Given the description of an element on the screen output the (x, y) to click on. 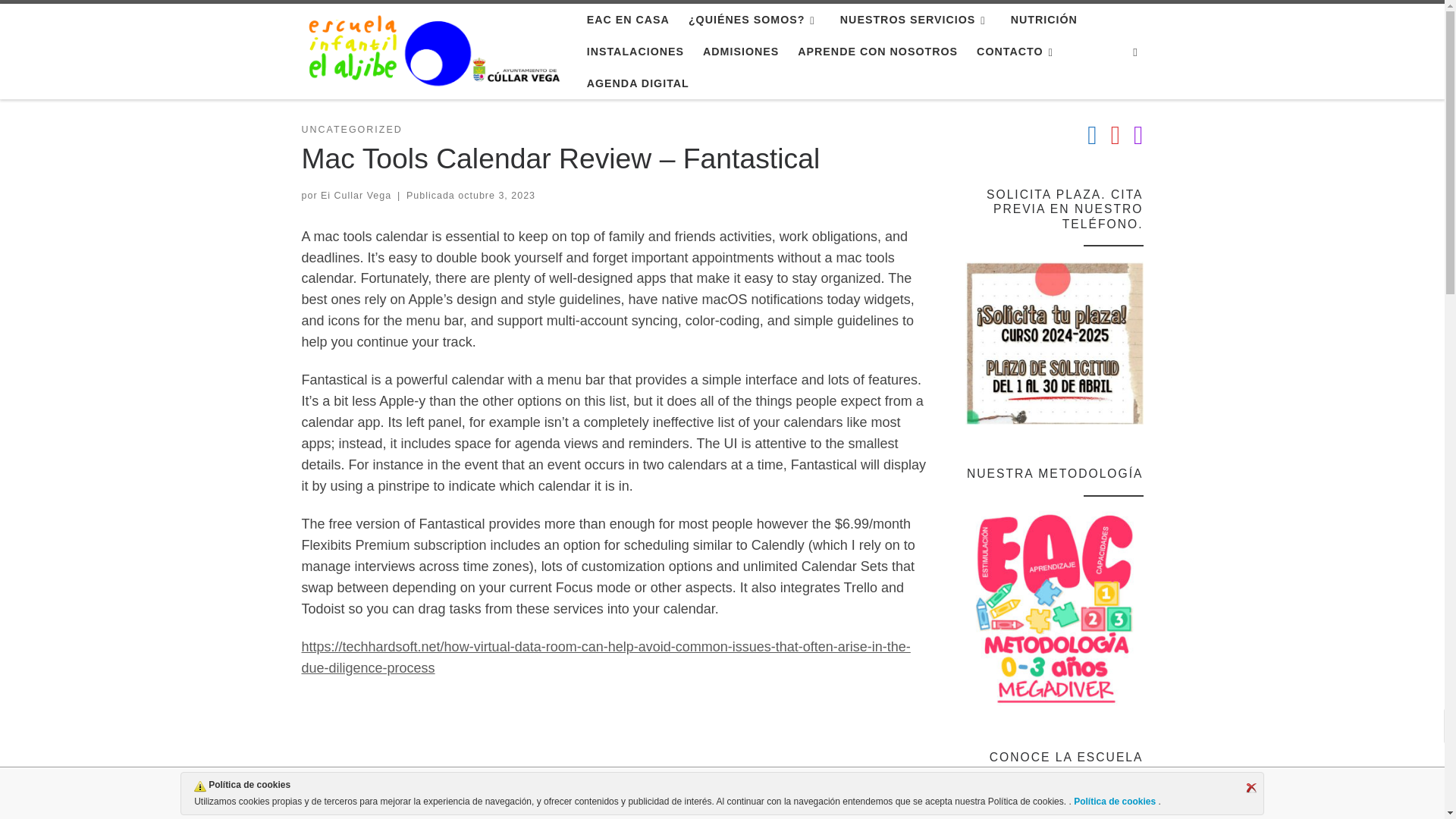
CONTACTO (1018, 51)
Saltar al contenido (70, 20)
Cerrar (1250, 787)
AGENDA DIGITAL (637, 83)
NUESTROS SERVICIOS (915, 20)
23:00 (496, 195)
ADMISIONES (741, 51)
APRENDE CON NOSOTROS (877, 51)
Ver todas las entradas de Ei Cullar Vega (355, 195)
INSTALACIONES (634, 51)
EAC EN CASA (627, 20)
Ver todas las entradas en Uncategorized (352, 129)
